Given the description of an element on the screen output the (x, y) to click on. 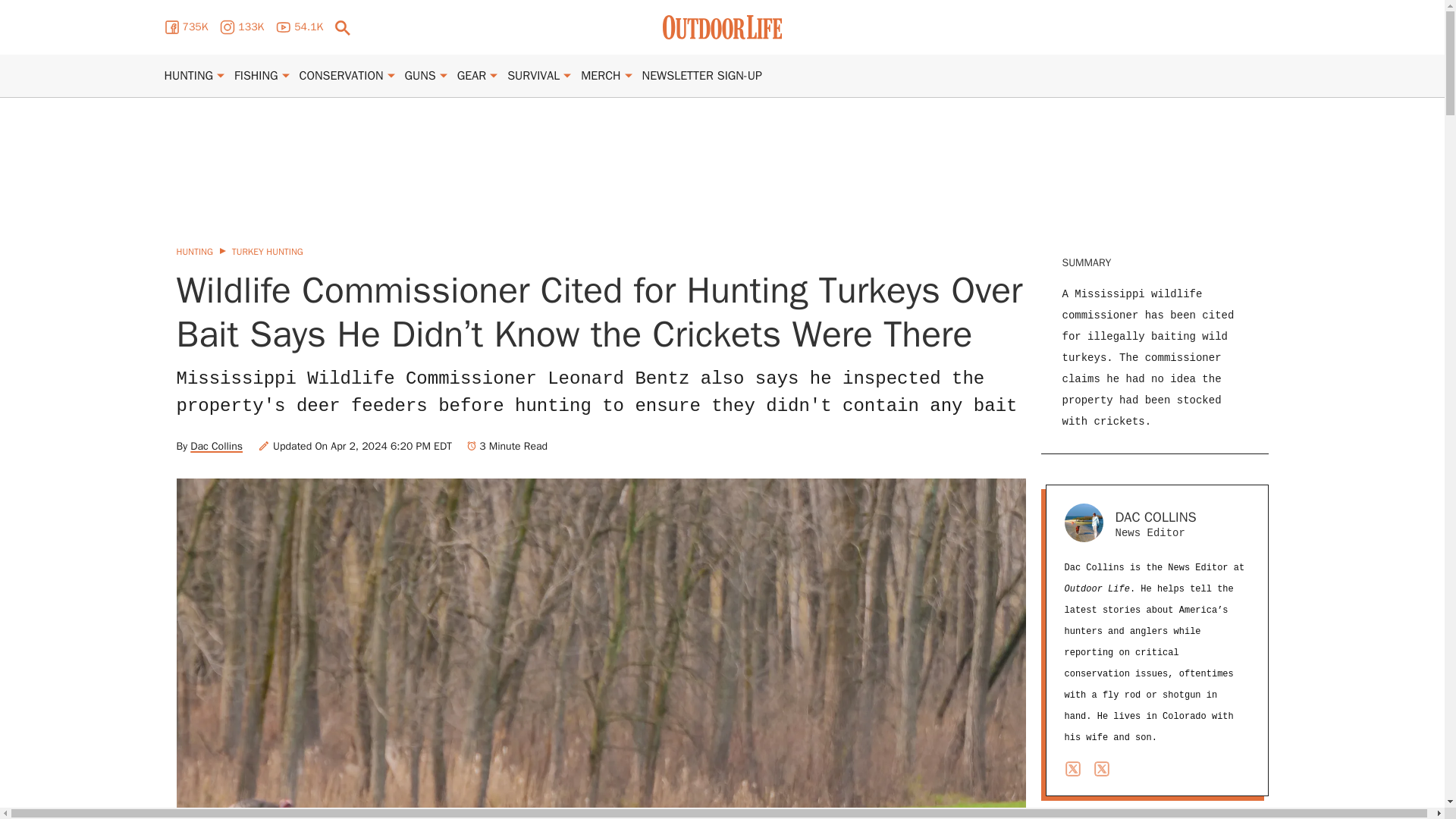
Conservation (341, 75)
Guns (419, 75)
Fishing (256, 75)
Gear (471, 75)
Newsletter Sign-up (701, 75)
Survival (532, 75)
Hunting (187, 75)
Merch (600, 75)
